Given the description of an element on the screen output the (x, y) to click on. 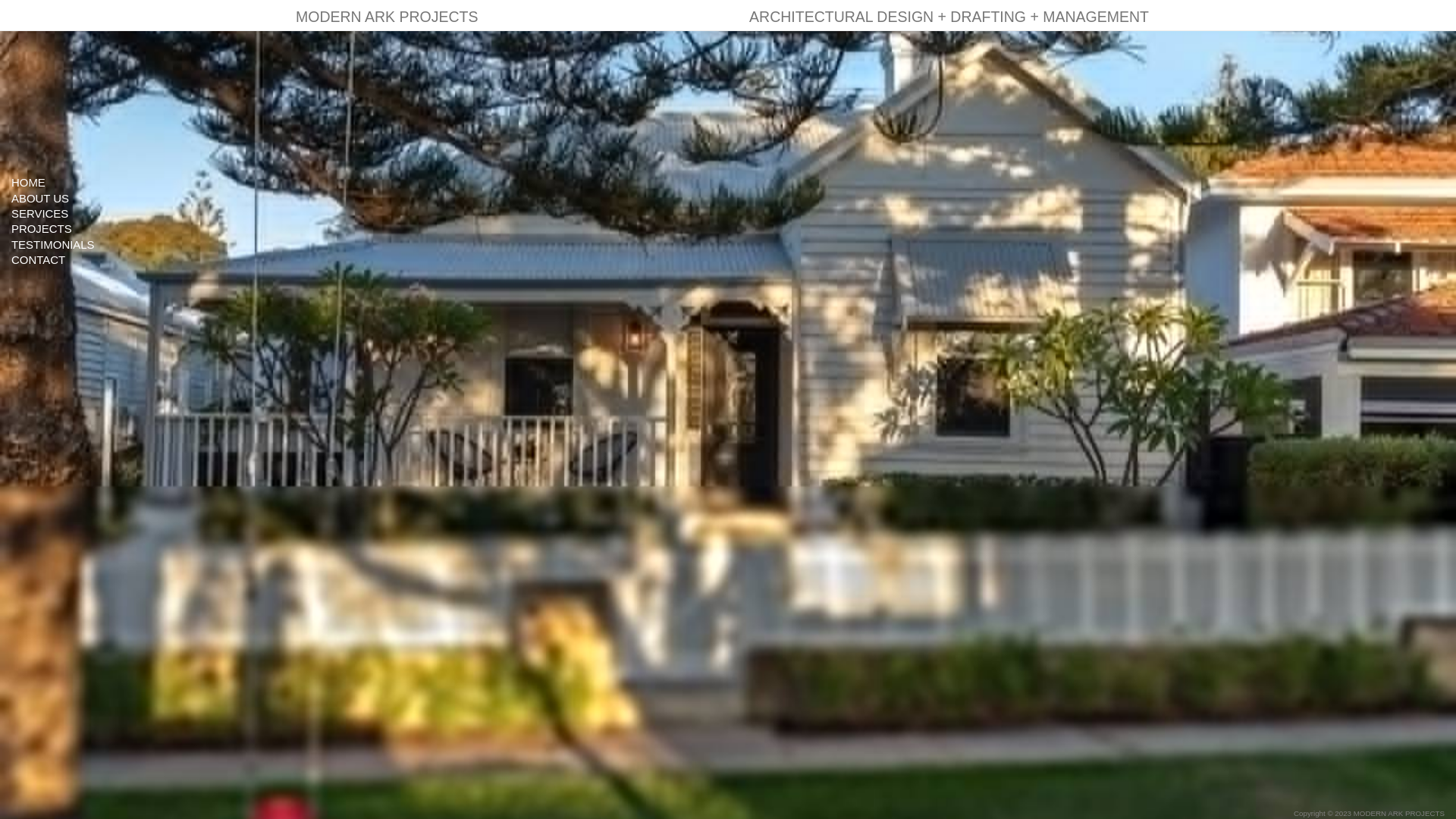
PROJECTS Element type: text (80, 228)
ABOUT US Element type: text (80, 198)
ARCHITECTURAL DESIGN + DRAFTING + MANAGEMENT Element type: text (948, 15)
MODERN ARK PROJECTS Element type: text (386, 15)
CONTACT Element type: text (80, 259)
TESTIMONIALS Element type: text (80, 244)
HOME Element type: text (80, 182)
SERVICES Element type: text (80, 213)
